Given the description of an element on the screen output the (x, y) to click on. 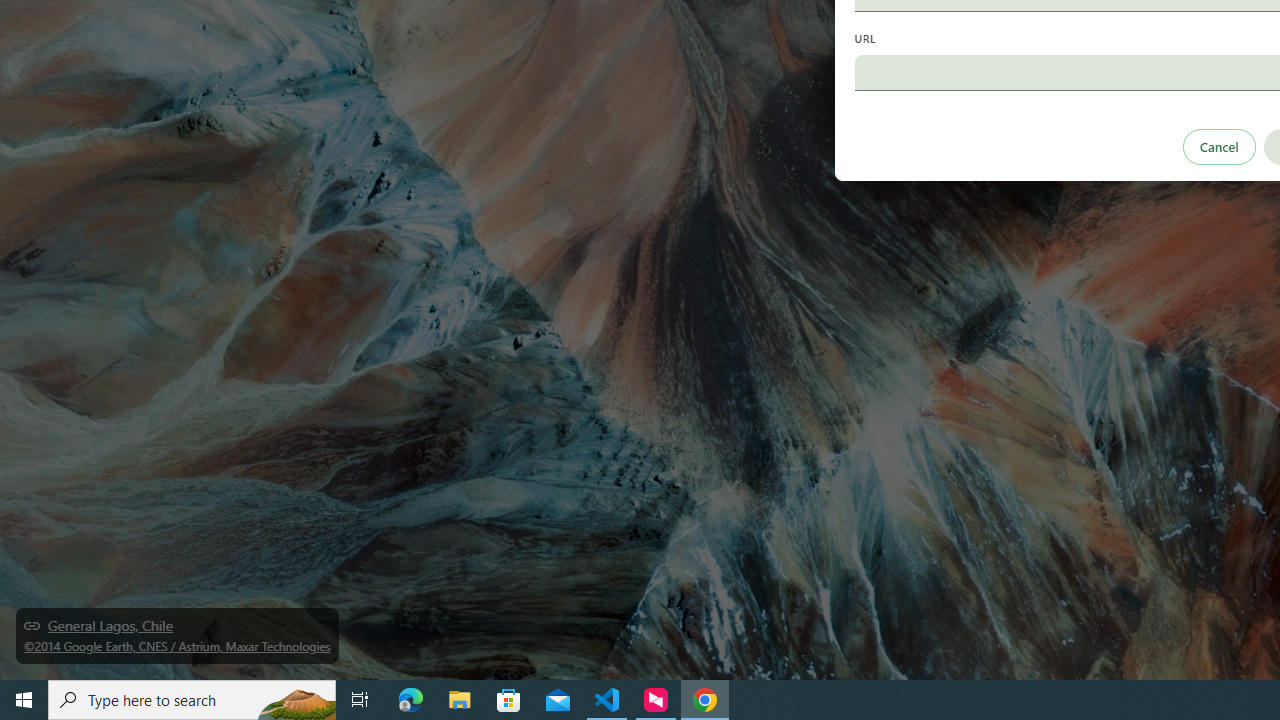
Cancel (1218, 146)
